Given the description of an element on the screen output the (x, y) to click on. 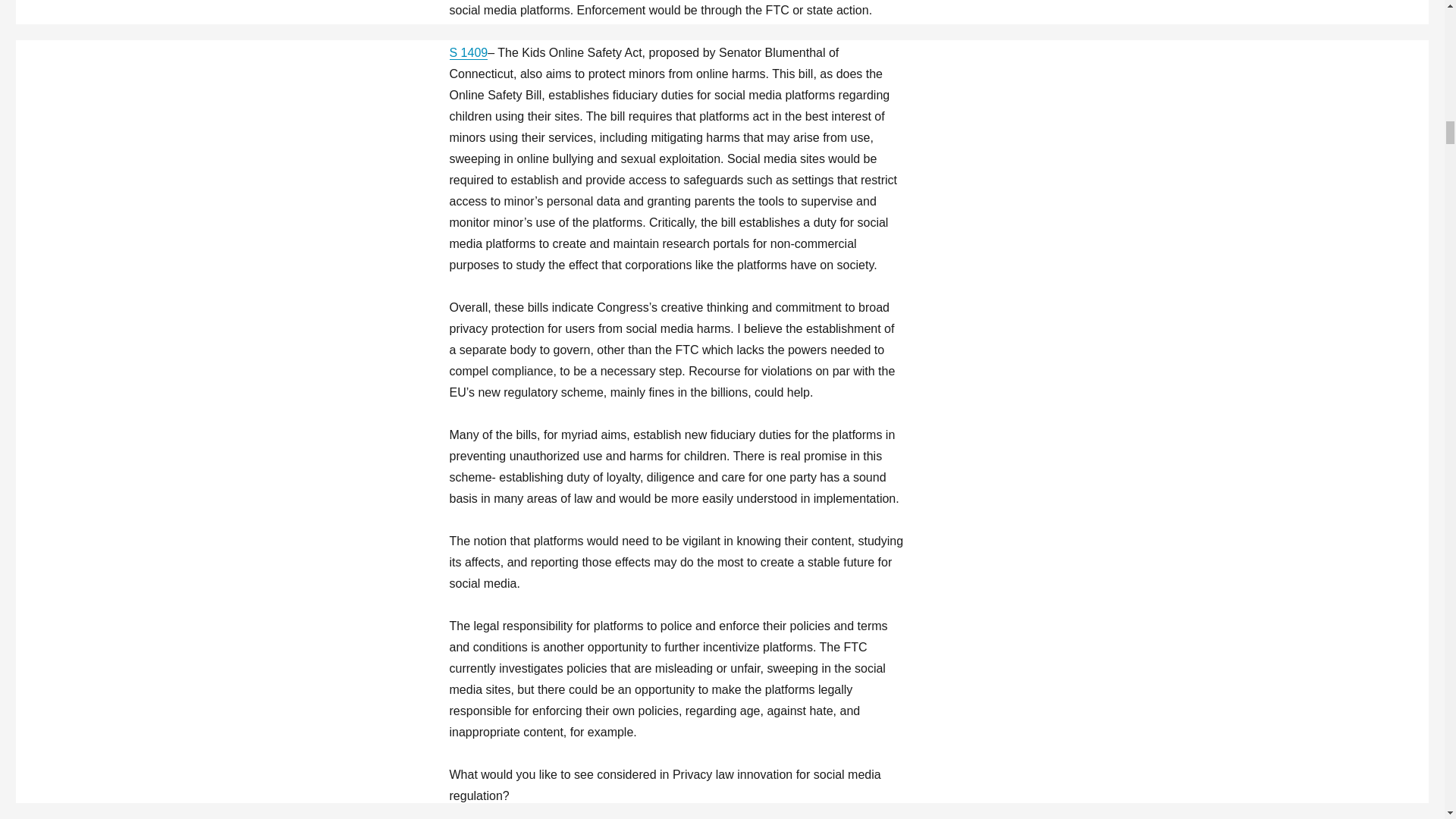
S 1409 (467, 51)
